Given the description of an element on the screen output the (x, y) to click on. 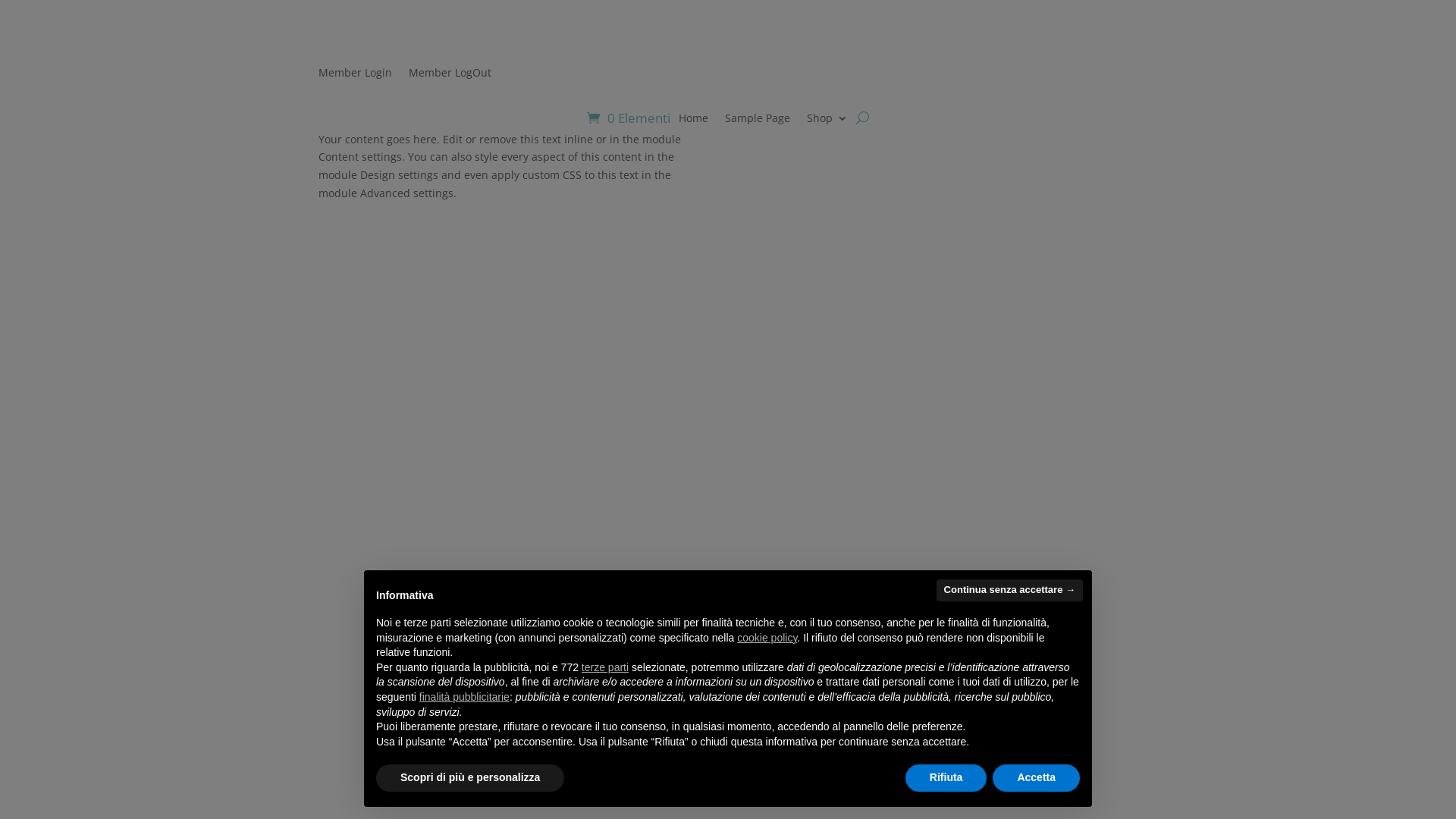
Sample Page Element type: text (757, 120)
Rifiuta Element type: text (946, 777)
Home Element type: text (693, 120)
terze parti Element type: text (604, 667)
0 Elementi Element type: text (628, 117)
Member LogOut Element type: text (449, 75)
Shop Element type: text (826, 120)
Member Login Element type: text (355, 75)
cookie policy Element type: text (767, 637)
Accetta Element type: text (1035, 777)
